Given the description of an element on the screen output the (x, y) to click on. 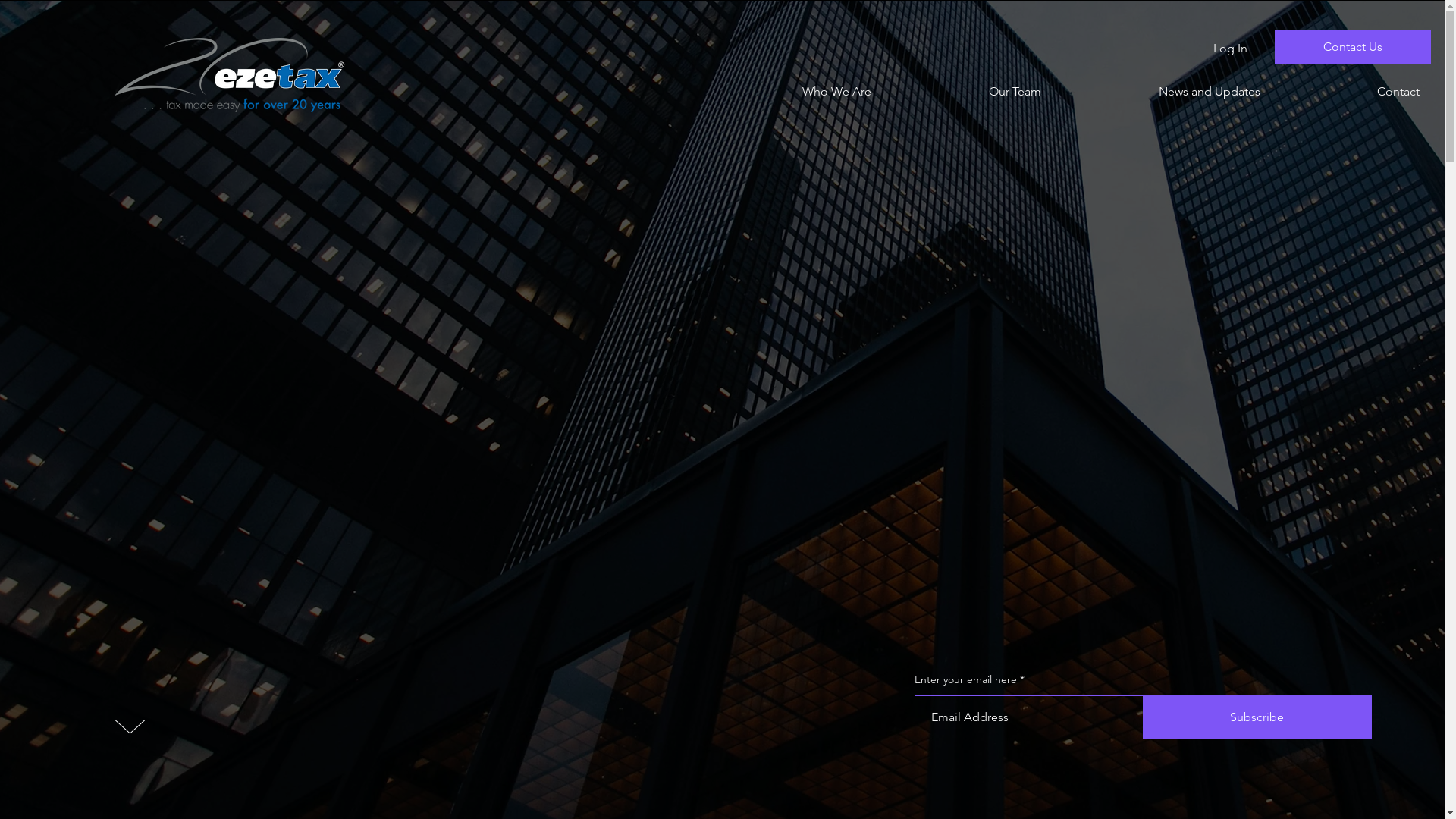
News and Updates Element type: text (1161, 91)
Contact Element type: text (1350, 91)
Log In Element type: text (1230, 48)
Our Team Element type: text (967, 91)
Contact Us Element type: text (1352, 47)
Who We Are Element type: text (789, 91)
Subscribe Element type: text (1256, 717)
